Given the description of an element on the screen output the (x, y) to click on. 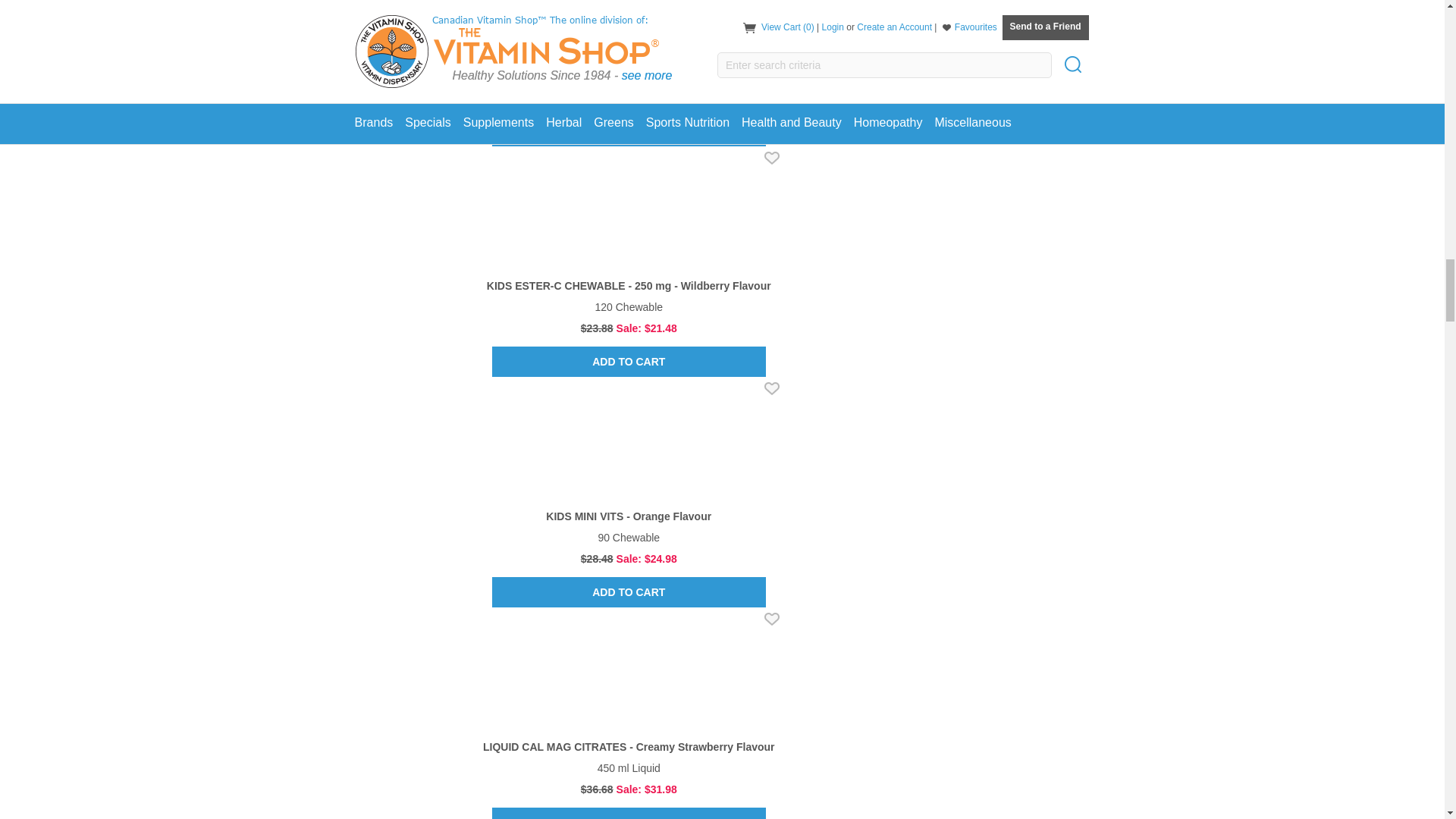
Add to Favourites (771, 388)
Add to Favourites (771, 157)
Add to Favourites (771, 618)
